Given the description of an element on the screen output the (x, y) to click on. 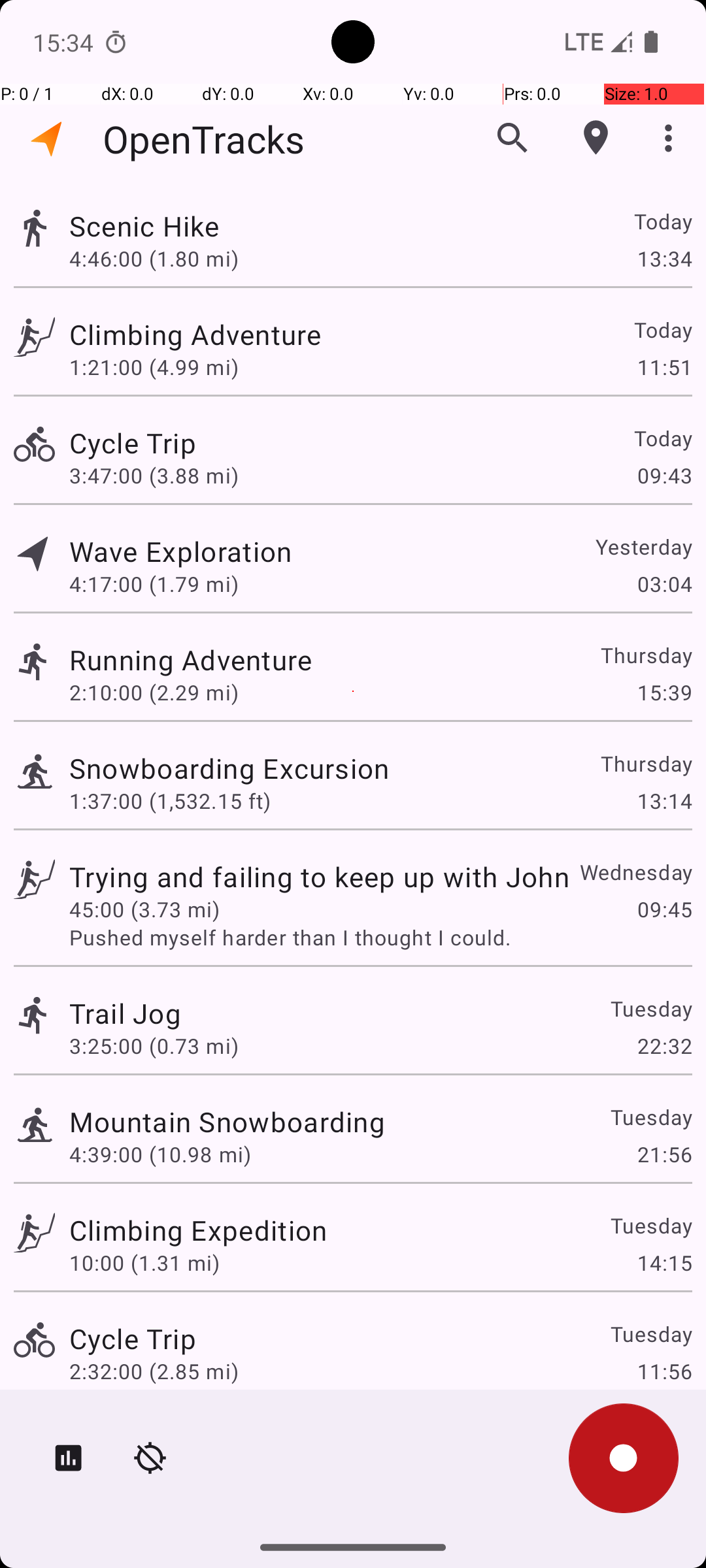
Scenic Hike Element type: android.widget.TextView (144, 225)
4:46:00 (1.80 mi) Element type: android.widget.TextView (153, 258)
13:34 Element type: android.widget.TextView (664, 258)
Climbing Adventure Element type: android.widget.TextView (194, 333)
1:21:00 (4.99 mi) Element type: android.widget.TextView (153, 366)
11:51 Element type: android.widget.TextView (664, 366)
Cycle Trip Element type: android.widget.TextView (132, 442)
3:47:00 (3.88 mi) Element type: android.widget.TextView (153, 475)
09:43 Element type: android.widget.TextView (664, 475)
Wave Exploration Element type: android.widget.TextView (180, 550)
4:17:00 (1.79 mi) Element type: android.widget.TextView (153, 583)
03:04 Element type: android.widget.TextView (664, 583)
Running Adventure Element type: android.widget.TextView (190, 659)
2:10:00 (2.29 mi) Element type: android.widget.TextView (153, 692)
15:39 Element type: android.widget.TextView (664, 692)
Snowboarding Excursion Element type: android.widget.TextView (229, 767)
1:37:00 (1,532.15 ft) Element type: android.widget.TextView (169, 800)
13:14 Element type: android.widget.TextView (664, 800)
Trying and failing to keep up with John Element type: android.widget.TextView (319, 876)
45:00 (3.73 mi) Element type: android.widget.TextView (144, 909)
09:45 Element type: android.widget.TextView (664, 909)
Pushed myself harder than I thought I could. Element type: android.widget.TextView (380, 937)
Trail Jog Element type: android.widget.TextView (124, 1012)
3:25:00 (0.73 mi) Element type: android.widget.TextView (153, 1045)
22:32 Element type: android.widget.TextView (664, 1045)
Mountain Snowboarding Element type: android.widget.TextView (226, 1121)
4:39:00 (10.98 mi) Element type: android.widget.TextView (159, 1154)
21:56 Element type: android.widget.TextView (664, 1154)
Climbing Expedition Element type: android.widget.TextView (197, 1229)
10:00 (1.31 mi) Element type: android.widget.TextView (144, 1262)
14:15 Element type: android.widget.TextView (664, 1262)
2:32:00 (2.85 mi) Element type: android.widget.TextView (153, 1370)
11:56 Element type: android.widget.TextView (664, 1370)
